Given the description of an element on the screen output the (x, y) to click on. 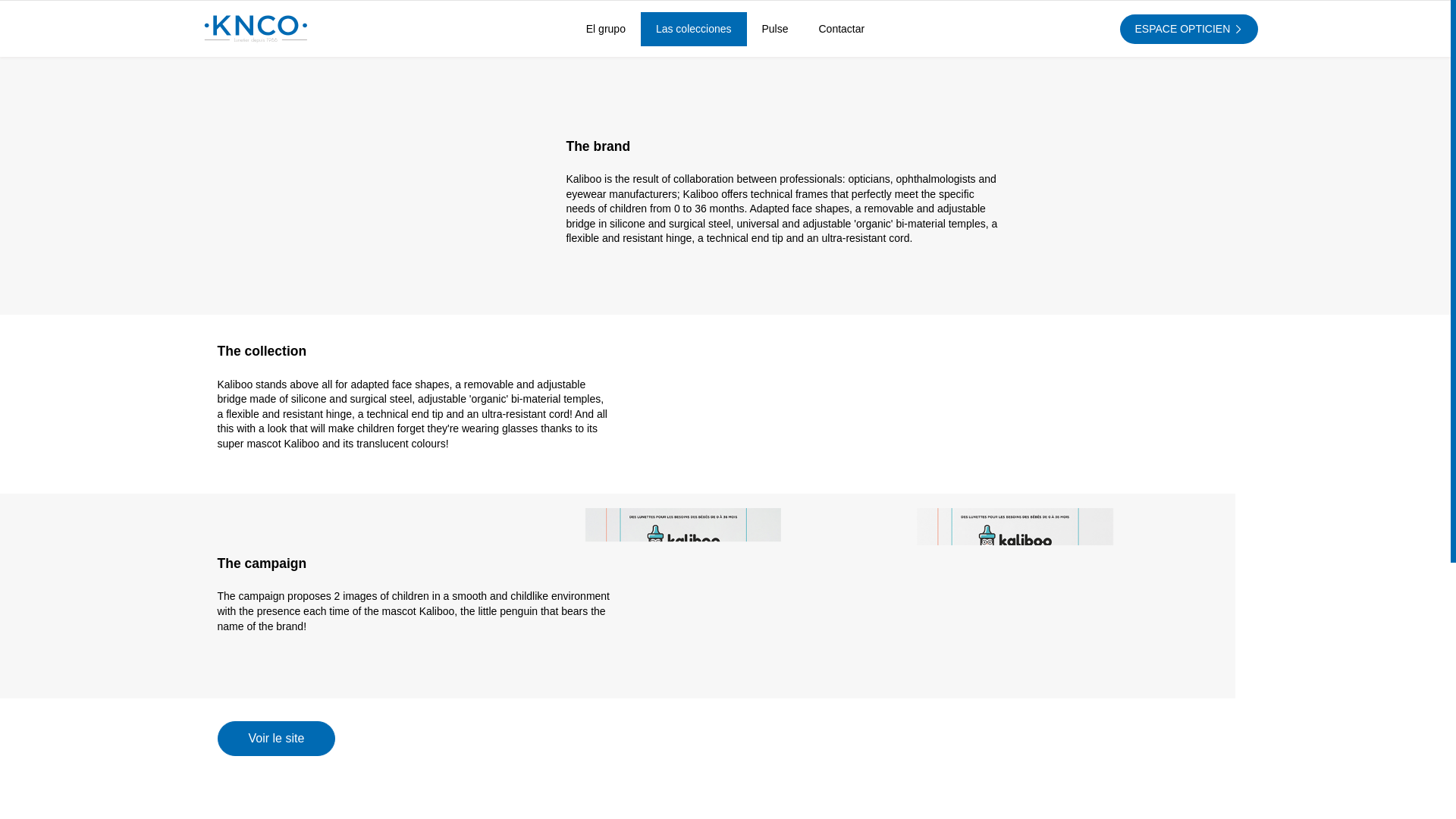
Las colecciones (693, 28)
El grupo (605, 28)
Contactar (841, 28)
Pulse (774, 28)
Acceda a su cuenta de cliente (1188, 29)
